Given the description of an element on the screen output the (x, y) to click on. 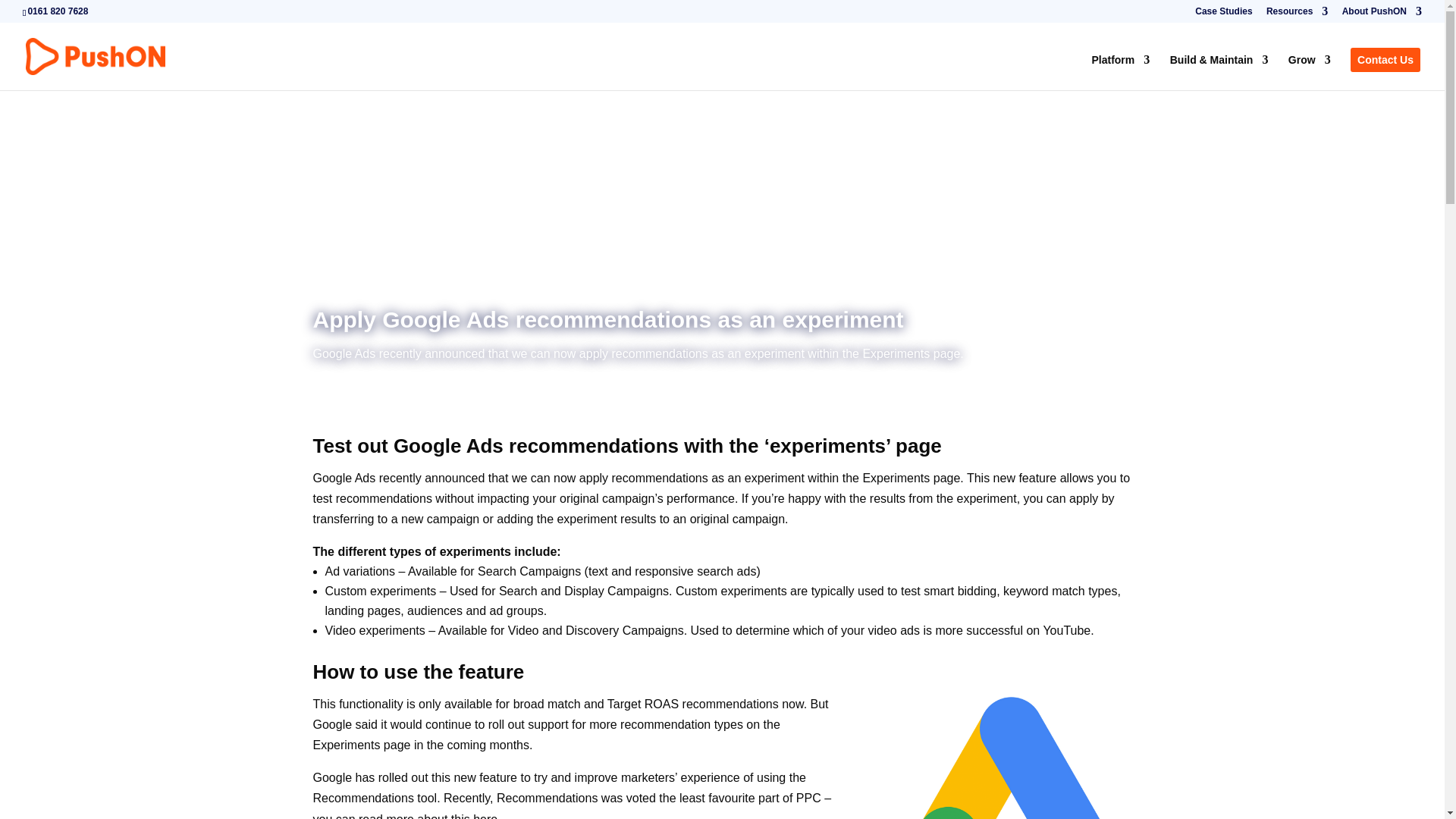
Case Studies (1223, 14)
Meta Logo (1009, 738)
0161 820 7628 (57, 10)
Platform (1120, 72)
About PushON (1382, 14)
Grow (1309, 72)
Resources (1296, 14)
